Given the description of an element on the screen output the (x, y) to click on. 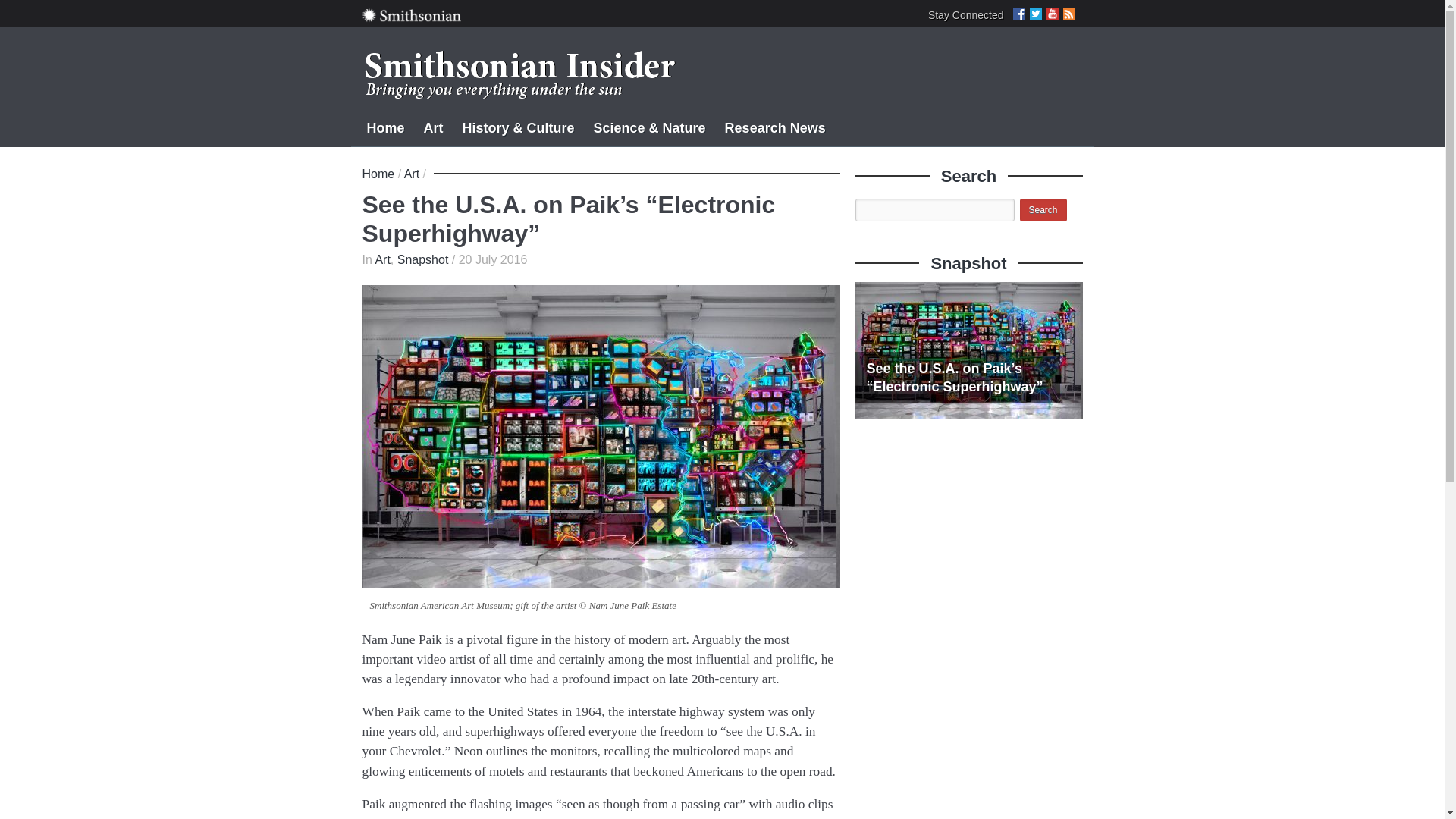
Snapshot (422, 259)
Research News (774, 126)
Home (378, 173)
Home (385, 126)
Art (382, 259)
Search (1042, 210)
Art (411, 173)
Search (1042, 210)
Art (433, 126)
